Given the description of an element on the screen output the (x, y) to click on. 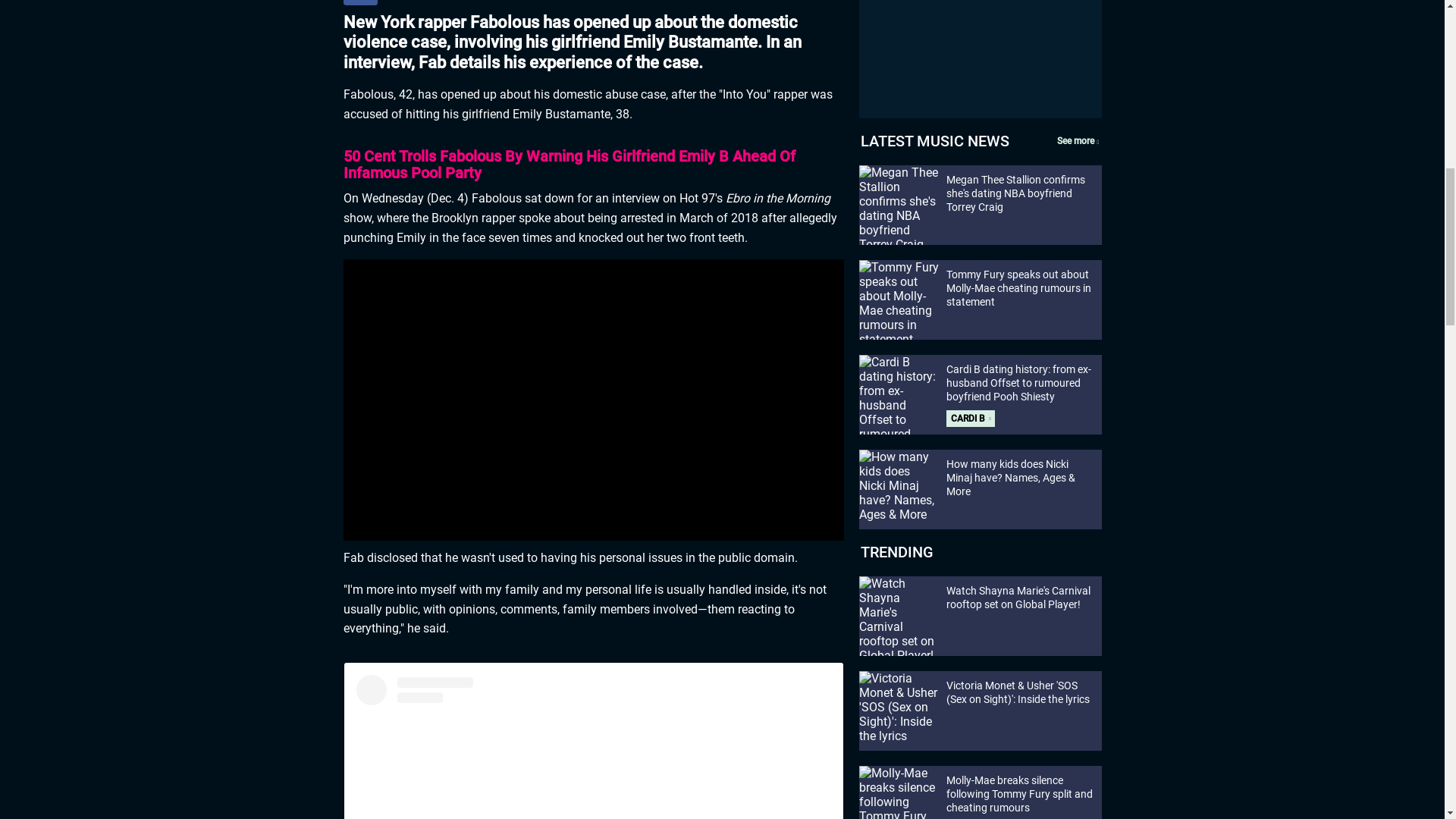
LATEST MUSIC NEWS (934, 140)
View this post on Instagram (593, 746)
